Given the description of an element on the screen output the (x, y) to click on. 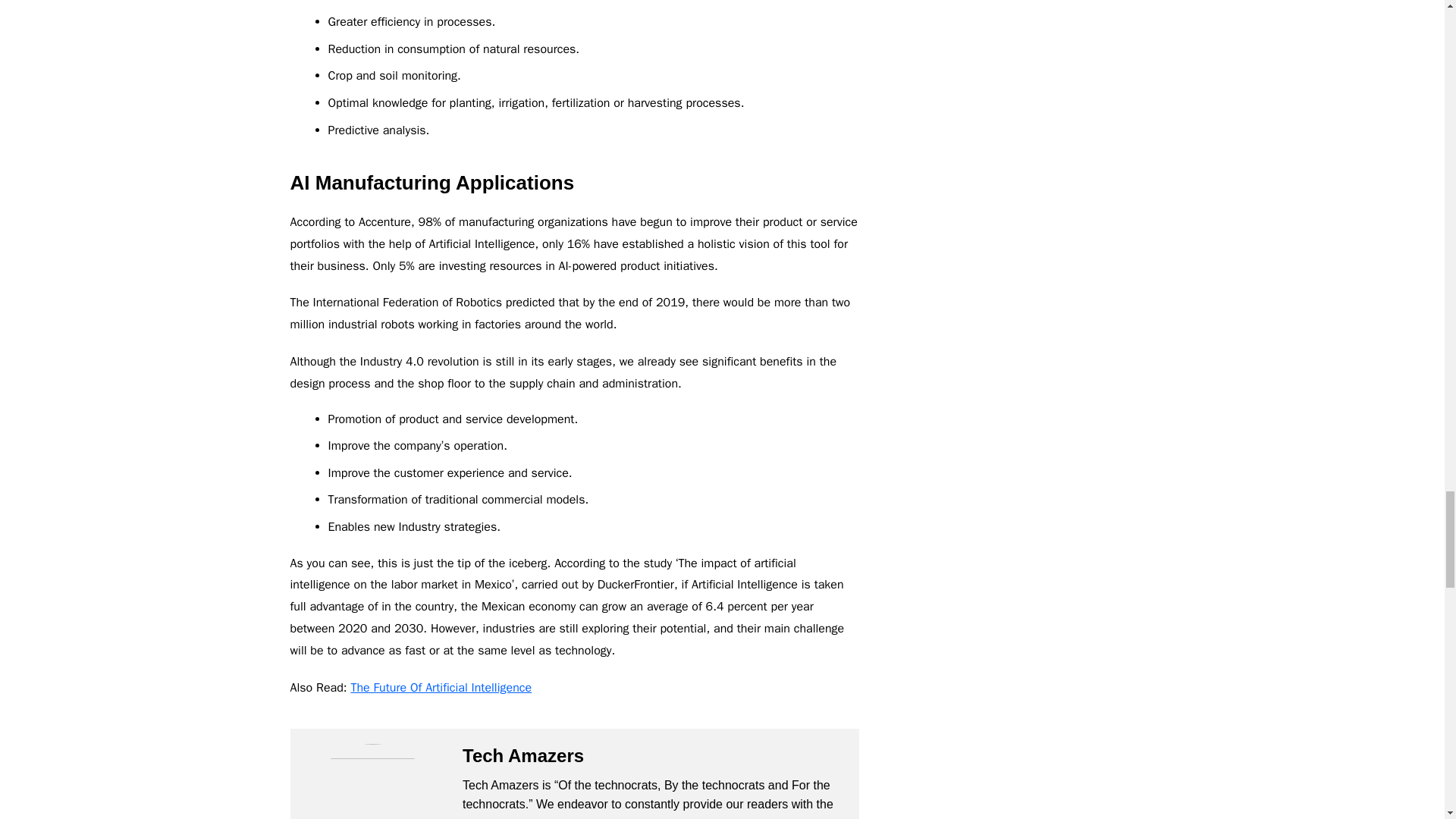
The Future Of Artificial Intelligence (440, 687)
